Given the description of an element on the screen output the (x, y) to click on. 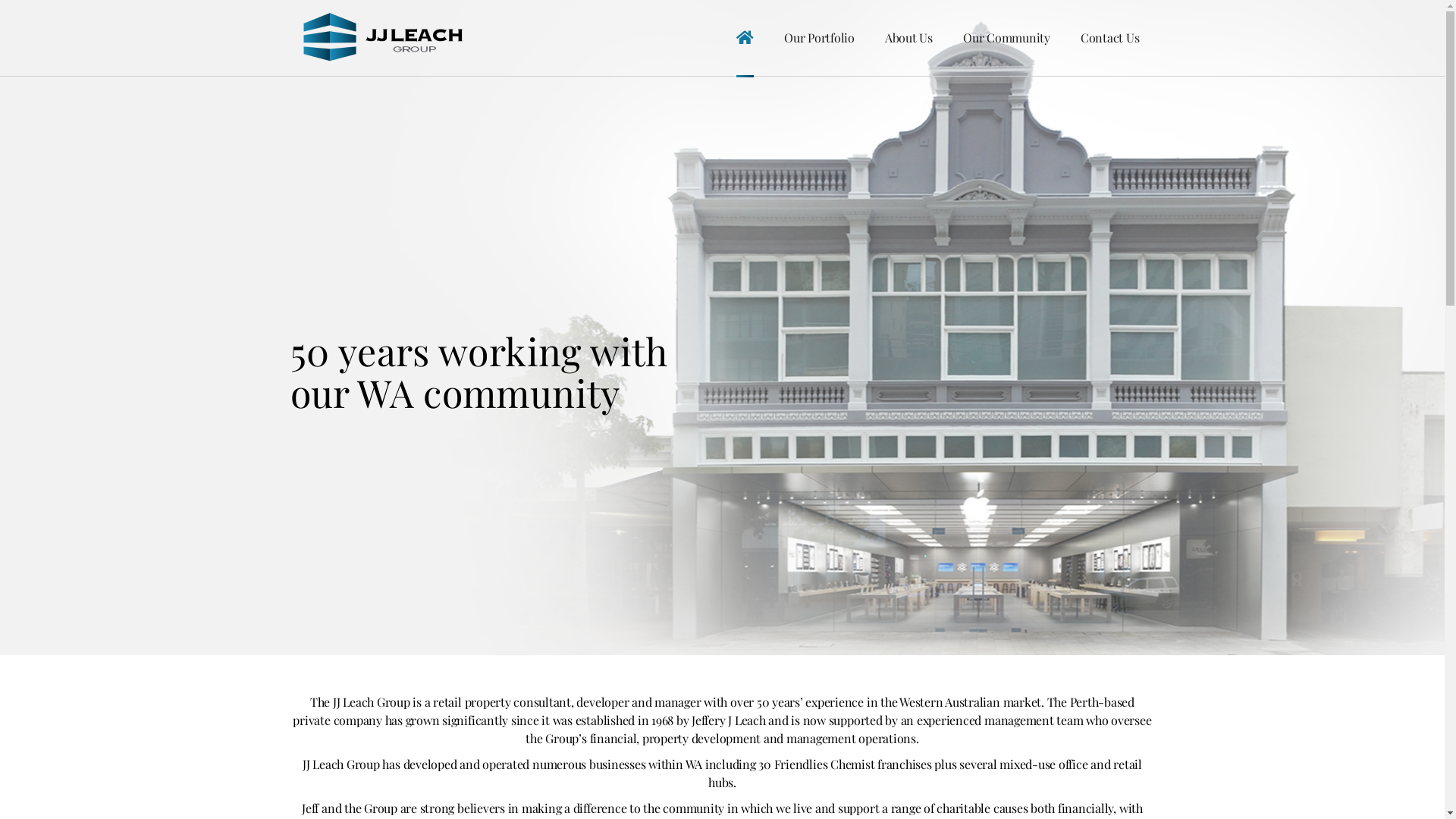
logo Element type: hover (384, 37)
Our Community Element type: text (1006, 37)
Our Portfolio Element type: text (819, 37)
Contact Us Element type: text (1109, 37)
About Us Element type: text (908, 37)
